Given the description of an element on the screen output the (x, y) to click on. 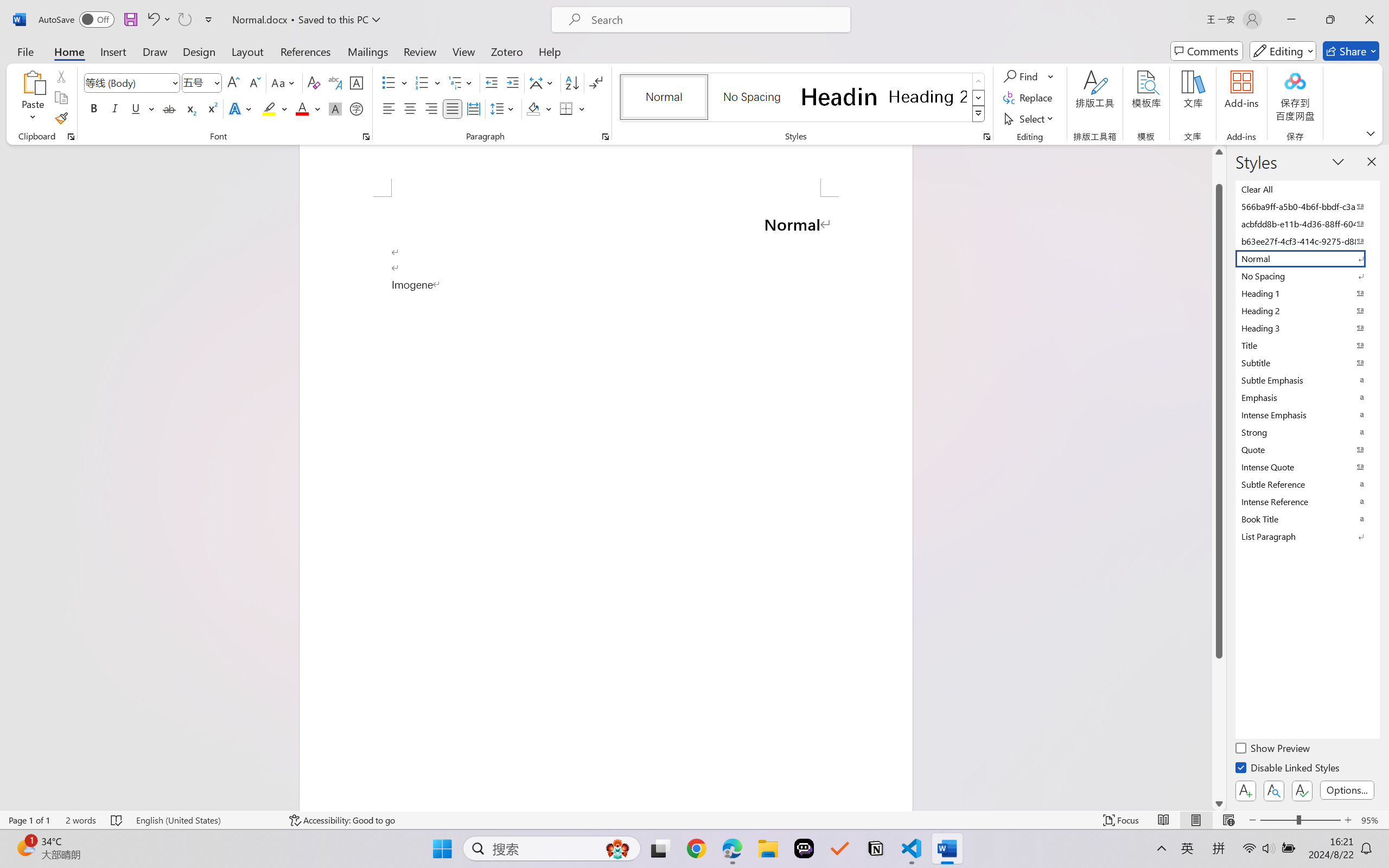
Book Title (1306, 518)
Subtitle (1306, 362)
Phonetic Guide... (334, 82)
AutomationID: QuickStylesGallery (802, 97)
Grow Font (233, 82)
Bold (94, 108)
Microsoft search (715, 19)
Emphasis (1306, 397)
Intense Emphasis (1306, 414)
